Given the description of an element on the screen output the (x, y) to click on. 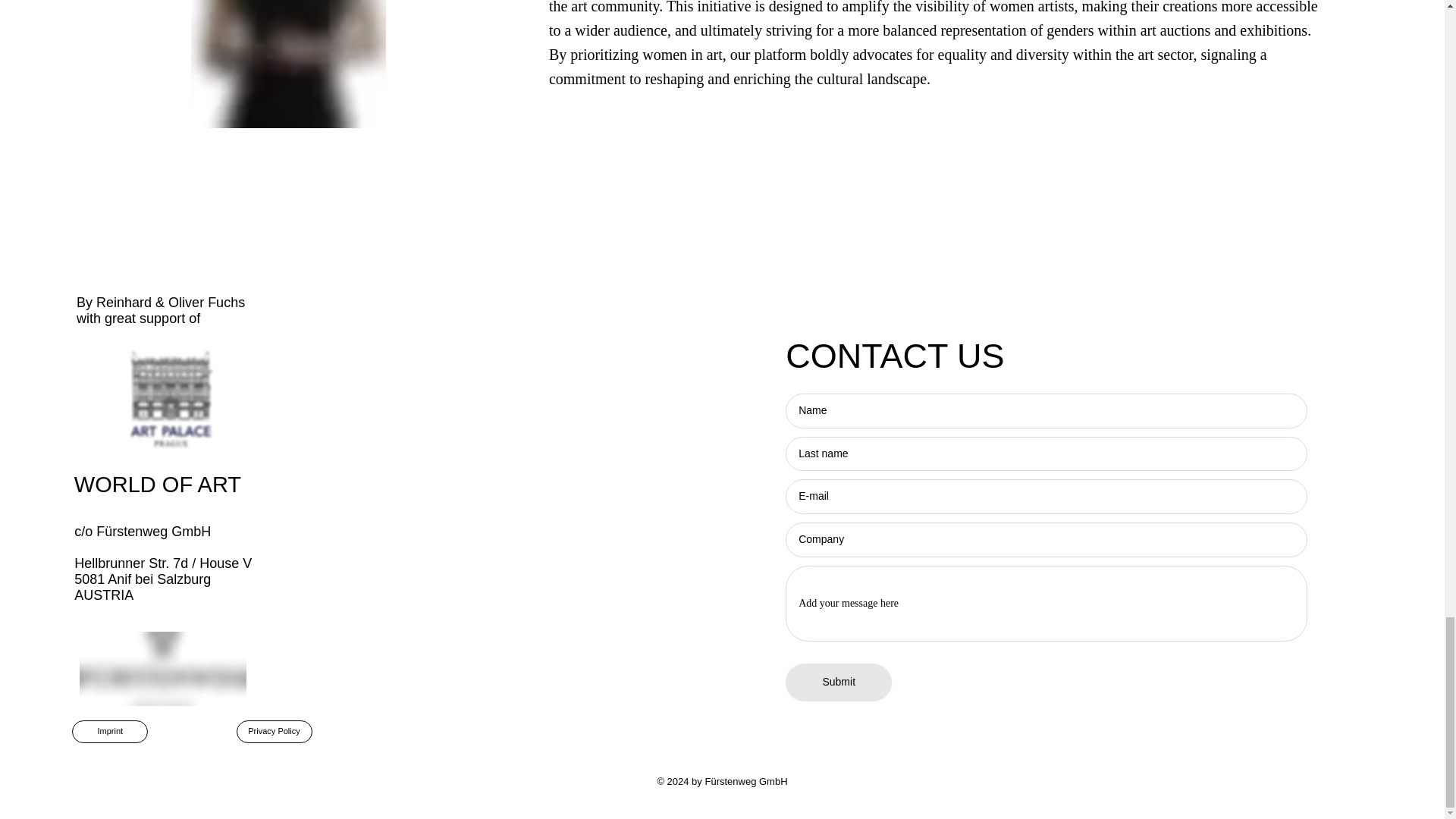
Imprint (109, 731)
Submit (838, 682)
Privacy Policy (274, 731)
